Given the description of an element on the screen output the (x, y) to click on. 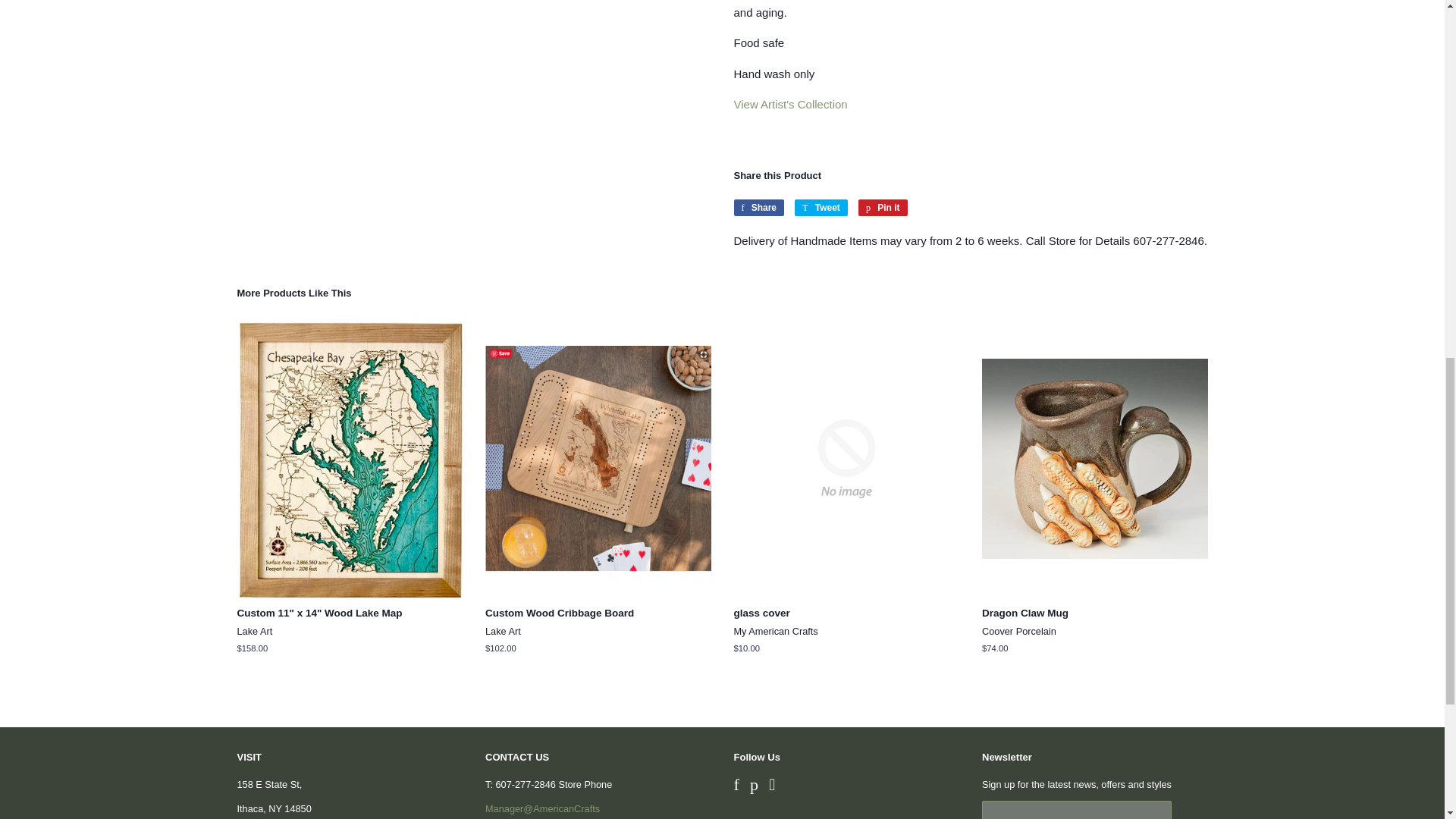
Share on Facebook (758, 207)
